Given the description of an element on the screen output the (x, y) to click on. 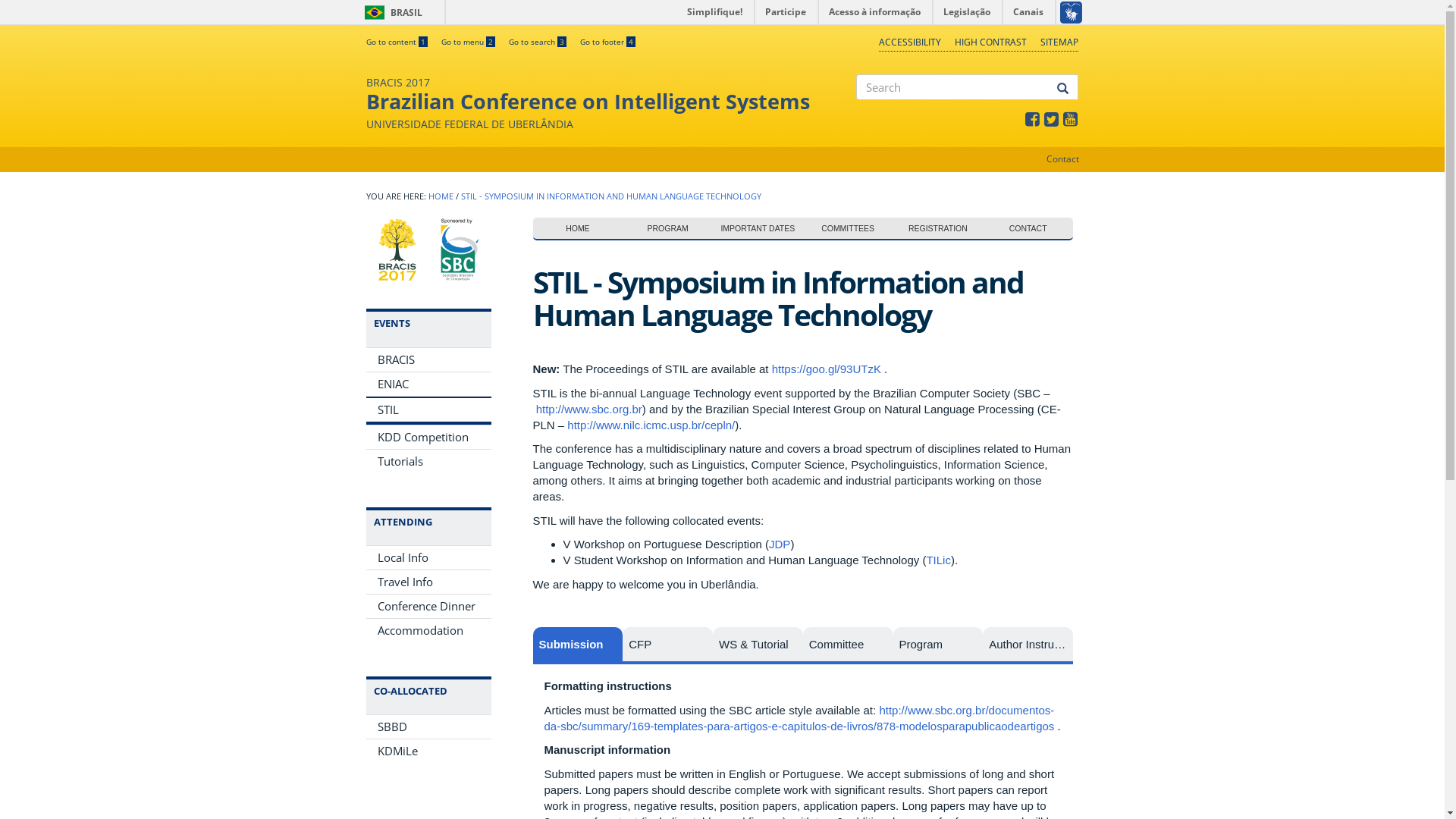
http://www.nilc.icmc.usp.br/cepln/ Element type: text (650, 424)
Go to footer 4 Element type: text (606, 41)
BRACIS Element type: text (427, 359)
Conference Dinner Element type: text (427, 606)
BRASIL Element type: text (373, 12)
SITEMAP Element type: text (1059, 41)
Author Instructions Element type: text (1027, 645)
Contact Element type: text (1062, 158)
HOME Element type: text (439, 196)
WS & Tutorial Element type: text (757, 645)
Home Element type: hover (397, 249)
ACCESSIBILITY Element type: text (909, 41)
https://goo.gl/93UTzK Element type: text (826, 368)
Committee Element type: text (848, 645)
Submission Element type: text (577, 645)
CFP Element type: text (667, 645)
KDD Competition Element type: text (427, 436)
HOME Element type: text (577, 228)
COMMITTEES Element type: text (848, 228)
PROGRAM Element type: text (667, 228)
STIL Element type: text (427, 409)
Program  Element type: text (938, 645)
KDMiLe Element type: text (427, 750)
Accommodation Element type: text (427, 630)
Tutorials Element type: text (427, 461)
Go to content 1 Element type: text (395, 41)
Go to search 3 Element type: text (536, 41)
http://www.sbc.org.br Element type: text (589, 408)
IMPORTANT DATES Element type: text (757, 228)
SBC Element type: hover (459, 249)
Search Element type: text (856, 112)
REGISTRATION Element type: text (938, 228)
ENIAC Element type: text (427, 383)
JDP Element type: text (779, 543)
SBBD Element type: text (427, 726)
TILic Element type: text (937, 559)
Local Info Element type: text (427, 557)
Go to menu 2 Element type: text (468, 41)
HIGH CONTRAST Element type: text (990, 41)
CONTACT Element type: text (1027, 228)
Travel Info Element type: text (427, 581)
